Given the description of an element on the screen output the (x, y) to click on. 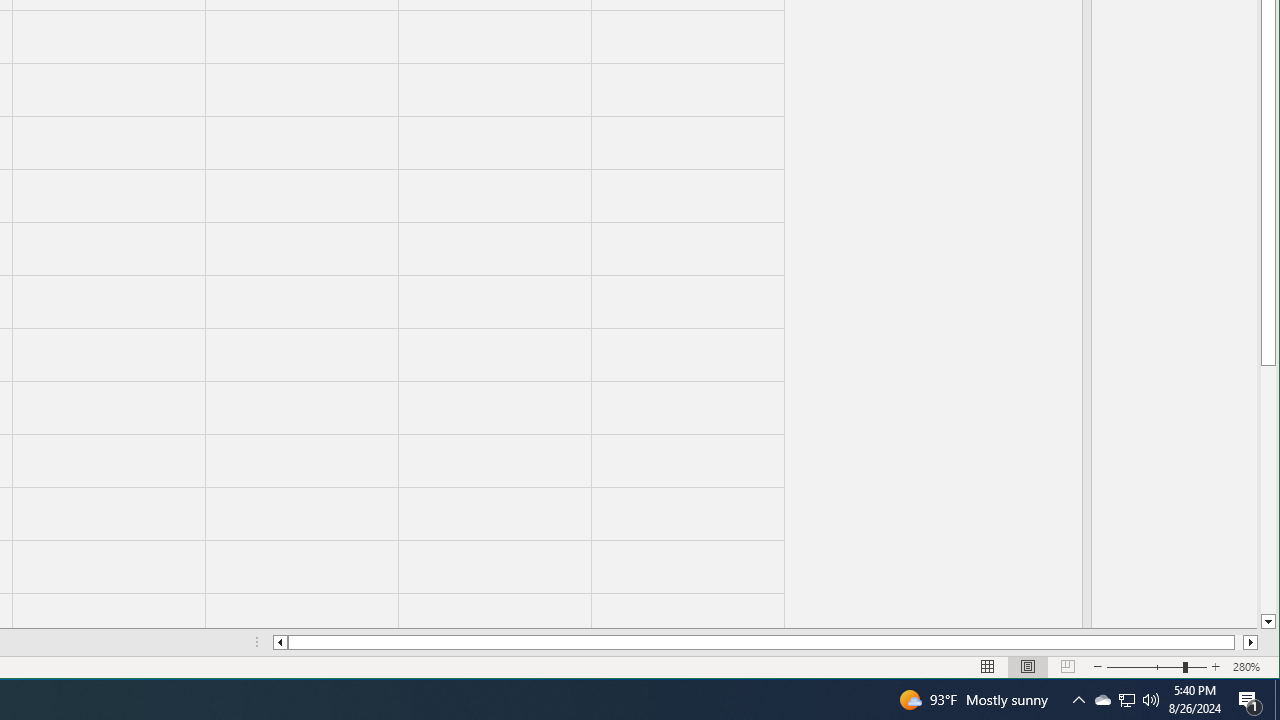
User Promoted Notification Area (1126, 699)
Action Center, 1 new notification (1250, 699)
Class: NetUIScrollBar (1126, 699)
Zoom In (765, 642)
